Given the description of an element on the screen output the (x, y) to click on. 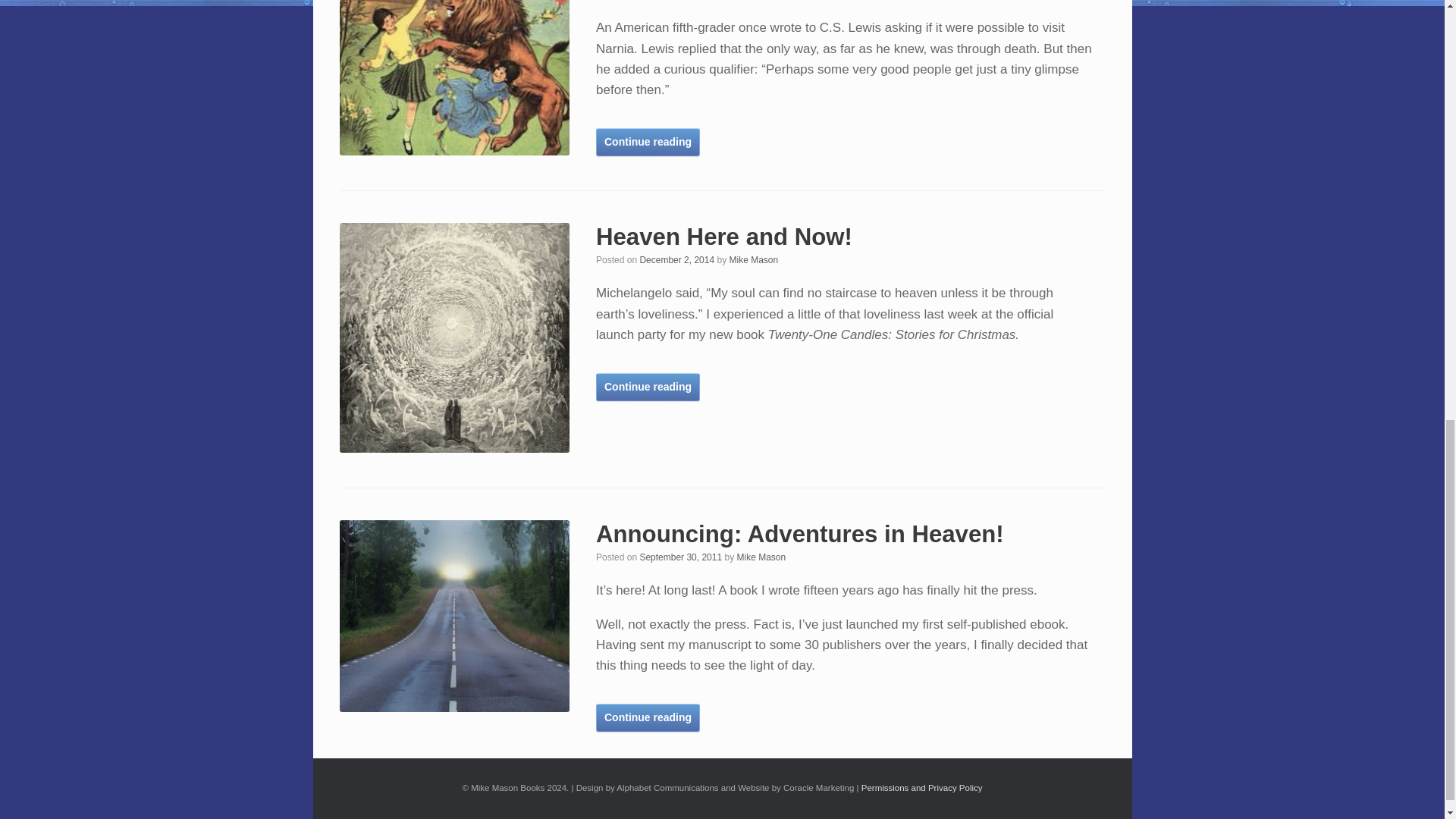
3:18 pm (676, 259)
Permalink to Heaven Here and Now! (723, 236)
Heaven Here and Now! (723, 236)
Continue reading (647, 141)
View all posts by Mike Mason (753, 259)
